Given the description of an element on the screen output the (x, y) to click on. 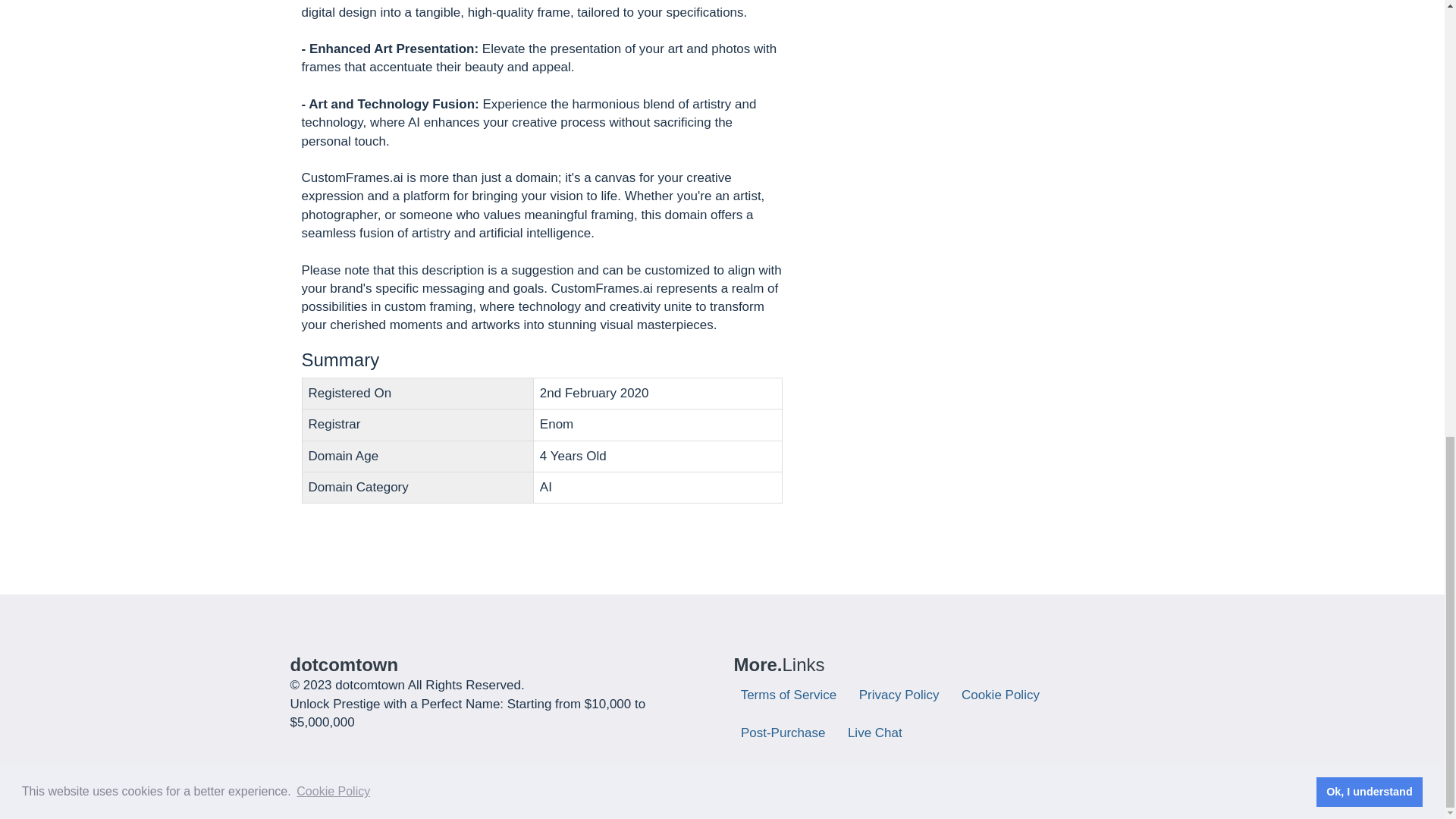
dotcomtown (343, 664)
  Terms of Service (792, 695)
  Live Chat (878, 733)
More.Links (779, 664)
  Privacy Policy (902, 695)
  Post-Purchase (787, 733)
  Cookie Policy (1003, 695)
